Given the description of an element on the screen output the (x, y) to click on. 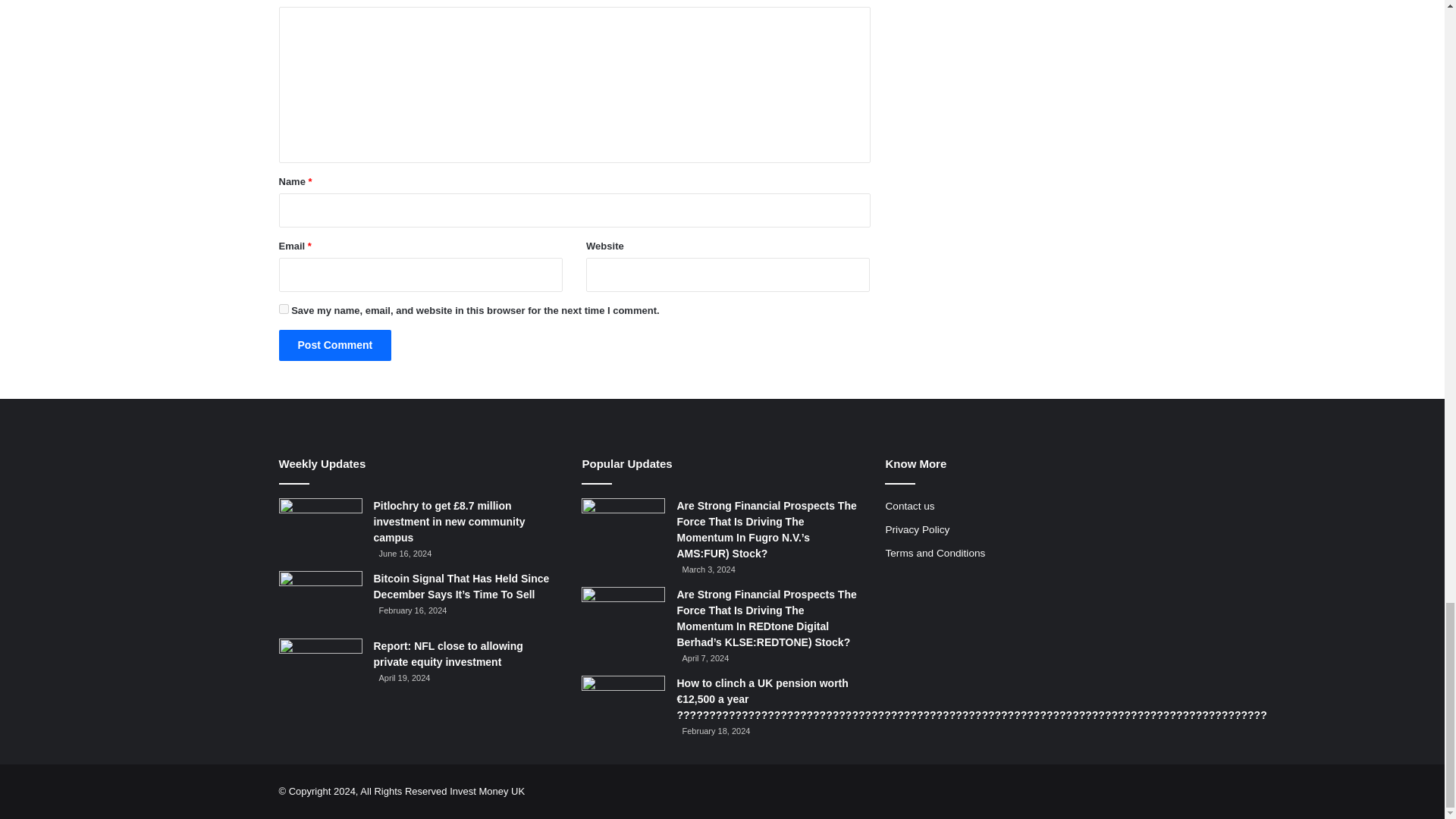
Post Comment (335, 345)
yes (283, 308)
